Given the description of an element on the screen output the (x, y) to click on. 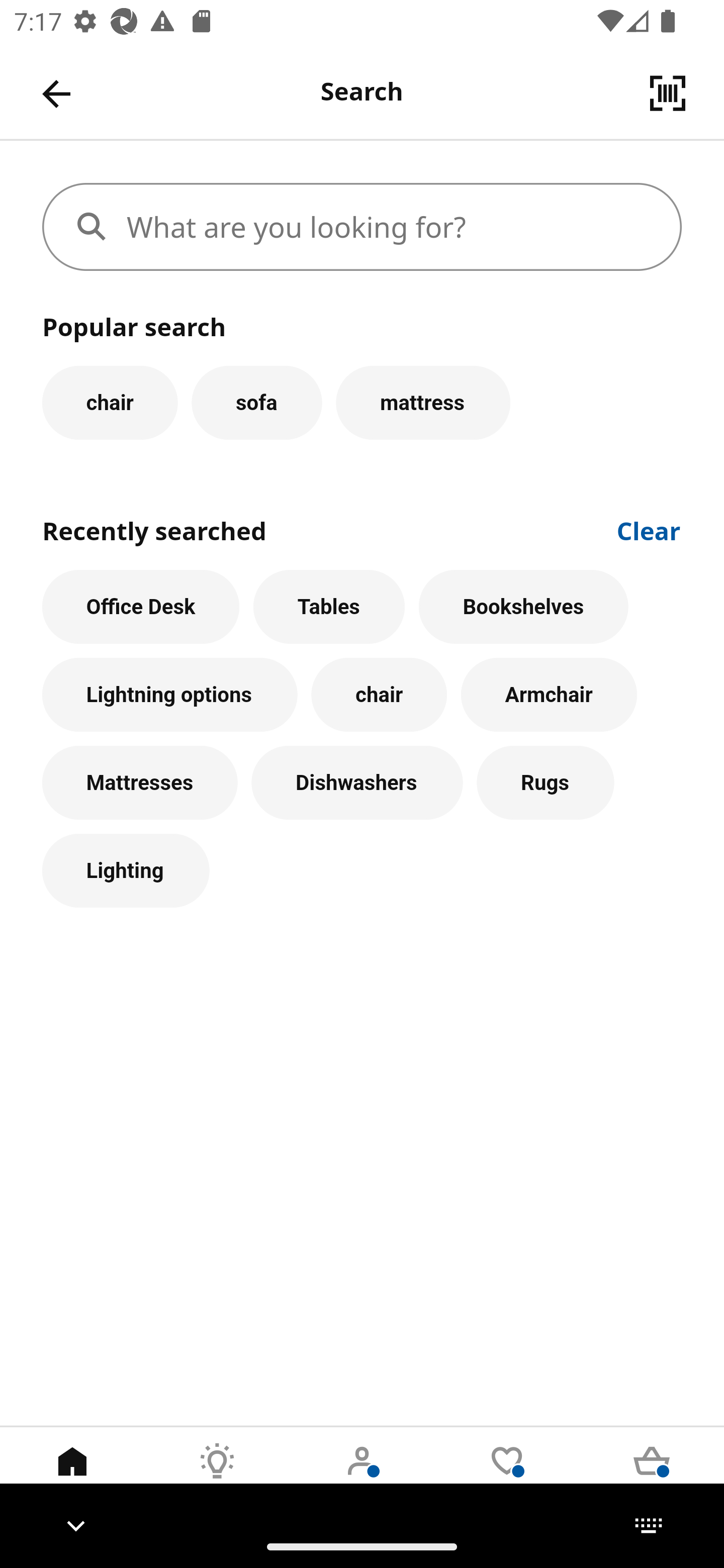
chair (109, 402)
sofa (256, 402)
mattress (423, 402)
Clear (649, 528)
Office Desk (140, 606)
Tables (328, 606)
Bookshelves (523, 606)
Lightning options (169, 695)
chair (379, 695)
Armchair (549, 695)
Mattresses (139, 783)
Dishwashers (357, 783)
Rugs (545, 783)
Lighting (125, 870)
Home
Tab 1 of 5 (72, 1476)
Inspirations
Tab 2 of 5 (216, 1476)
User
Tab 3 of 5 (361, 1476)
Wishlist
Tab 4 of 5 (506, 1476)
Cart
Tab 5 of 5 (651, 1476)
